Given the description of an element on the screen output the (x, y) to click on. 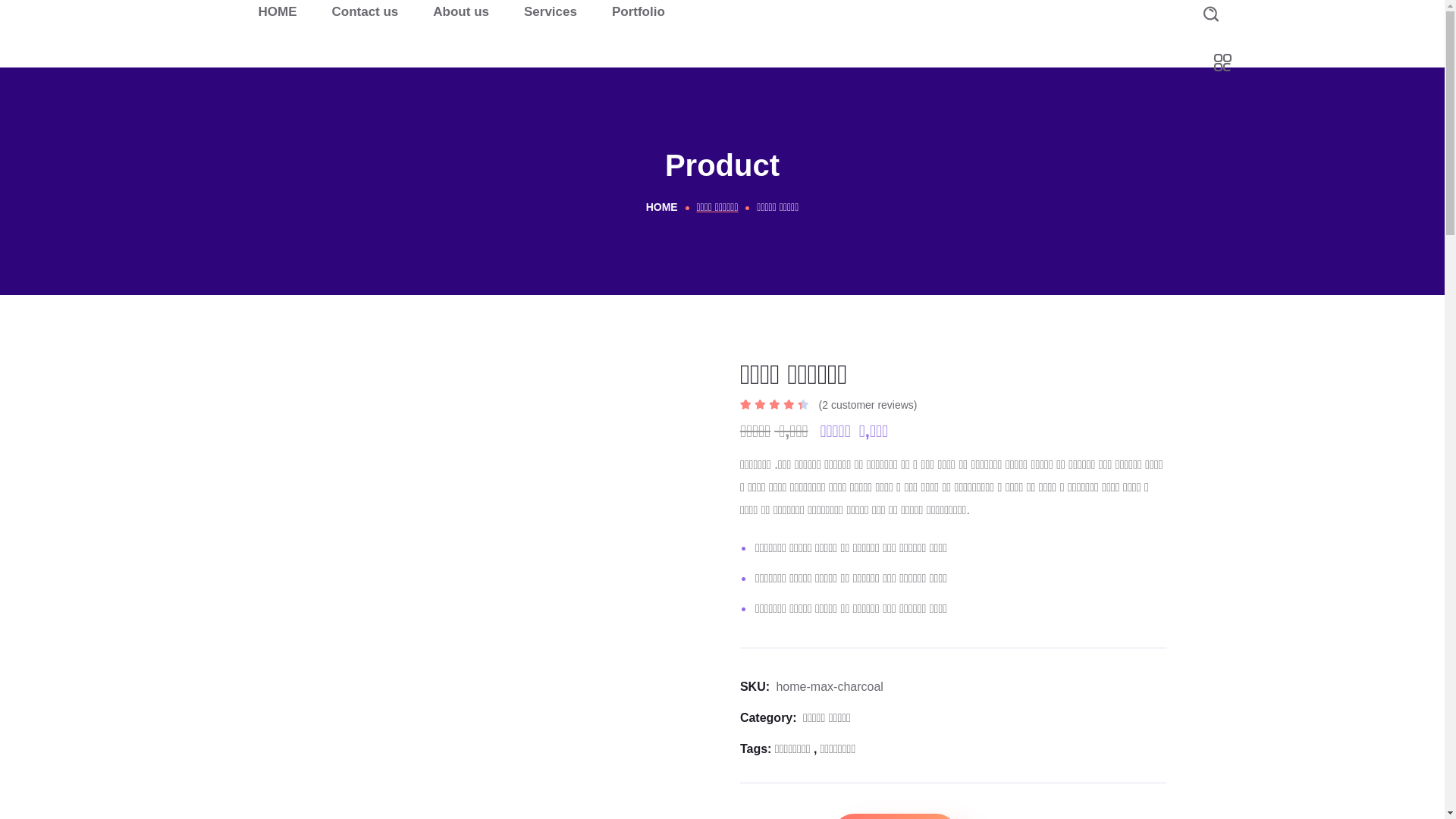
Services Element type: text (550, 11)
Search Element type: text (1193, 82)
HOME Element type: text (661, 206)
HOME Element type: text (276, 11)
Contact us Element type: text (364, 11)
(2 customer reviews) Element type: text (868, 404)
About us Element type: text (460, 11)
Portfolio Element type: text (638, 11)
